Given the description of an element on the screen output the (x, y) to click on. 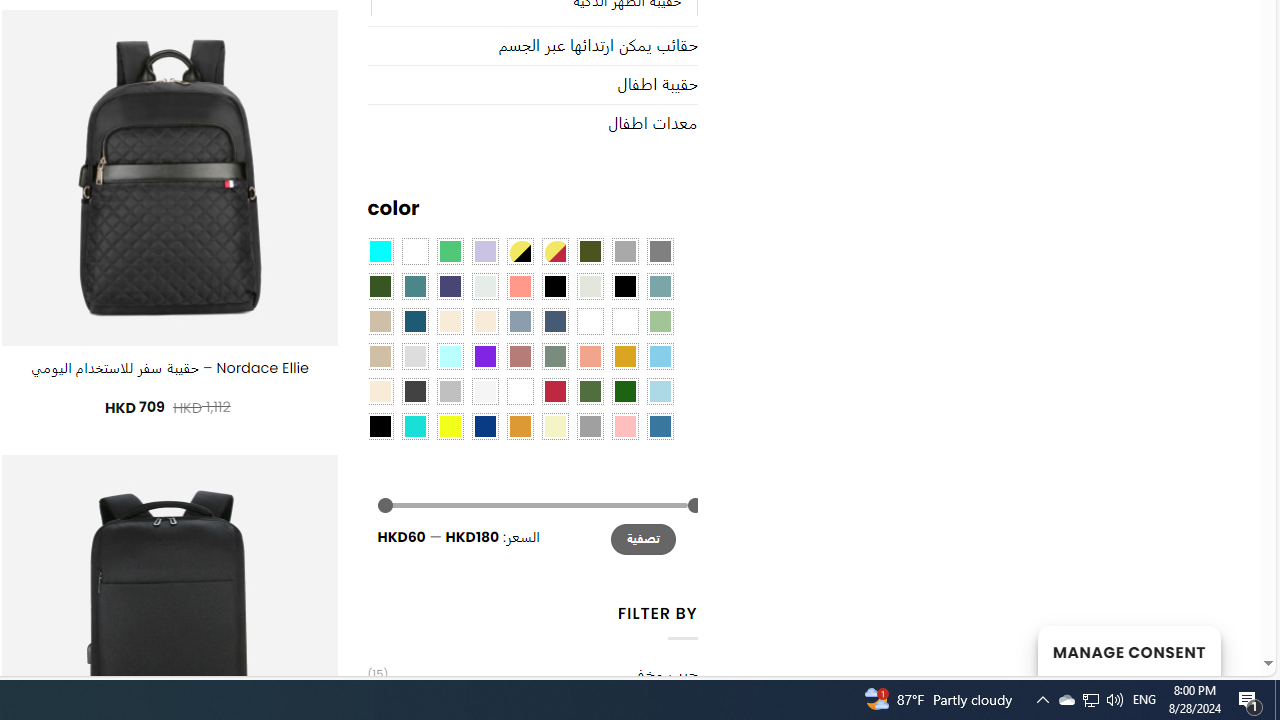
Mint (449, 355)
Caramel (449, 321)
Blue Sage (659, 285)
Emerald Green (449, 251)
Purple (484, 355)
Ash Gray (589, 285)
